Given the description of an element on the screen output the (x, y) to click on. 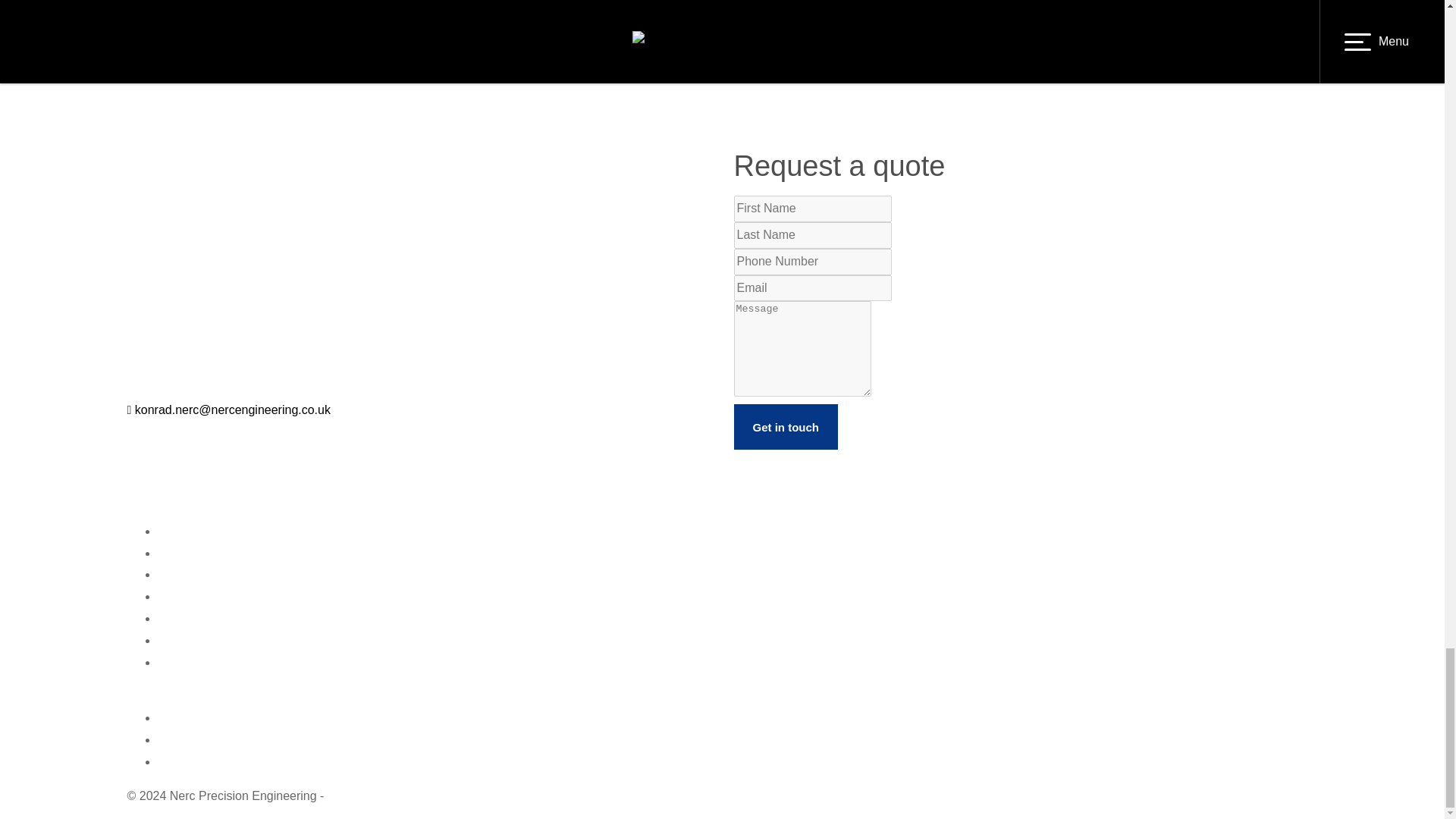
Gallery (176, 574)
Terms of Use (192, 640)
Website Design (369, 795)
About us (151, 17)
Privacy Policy (194, 617)
Get in touch (785, 426)
About us (181, 553)
Contact Us (186, 595)
Home (173, 530)
